Given the description of an element on the screen output the (x, y) to click on. 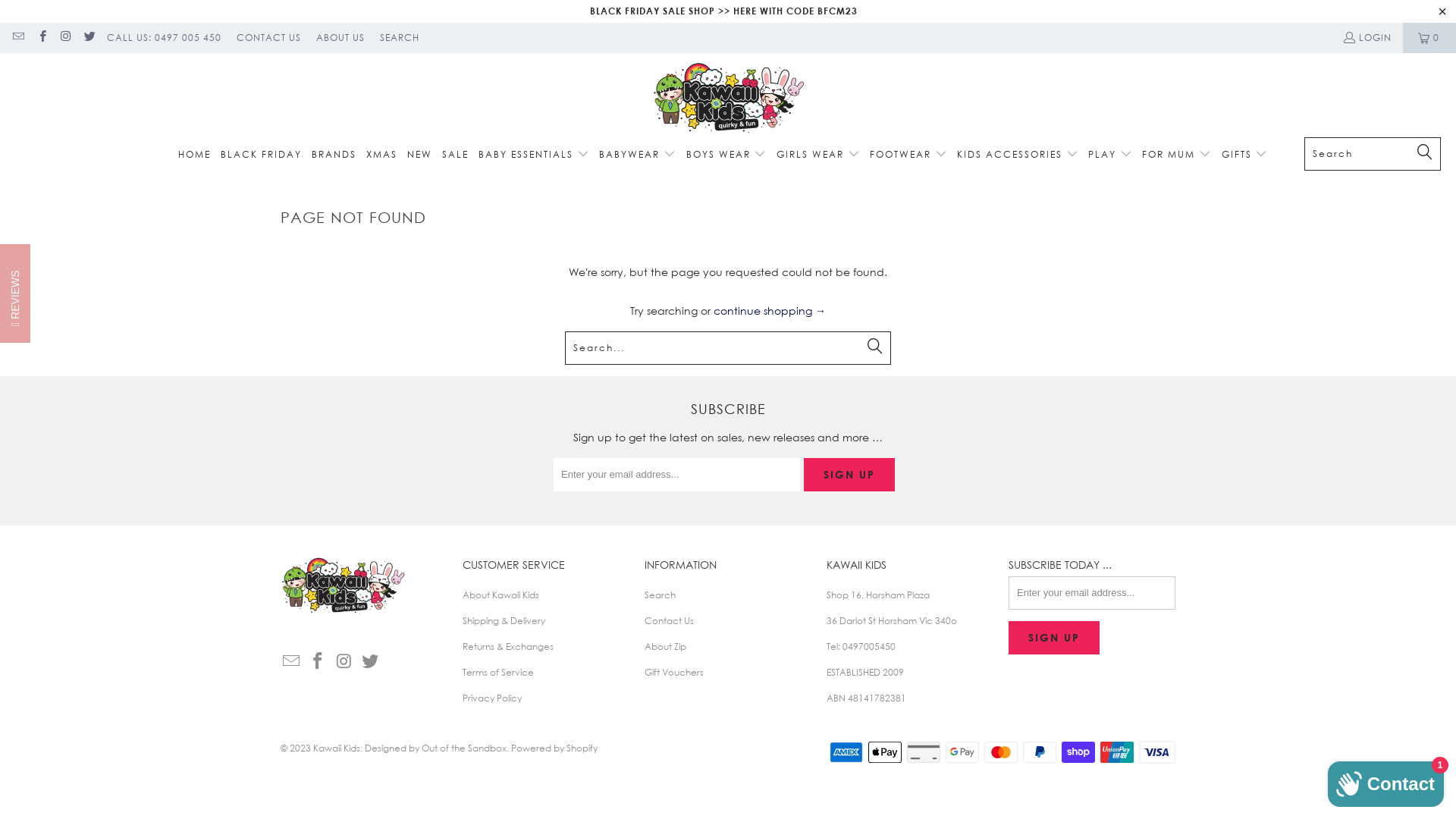
About Zip Element type: text (665, 646)
Designed by Out of the Sandbox Element type: text (435, 747)
CONTACT US Element type: text (268, 37)
Kawaii Kids on Facebook Element type: hover (40, 37)
About Kawaii Kids Element type: text (500, 594)
Email Kawaii Kids Element type: hover (17, 37)
Email Kawaii Kids Element type: hover (291, 661)
Contact Us Element type: text (668, 620)
Terms of Service Element type: text (497, 671)
CALL US: 0497 005 450 Element type: text (163, 37)
Kawaii Kids on Instagram Element type: hover (343, 661)
HOME Element type: text (194, 154)
Kawaii Kids Element type: text (336, 747)
Kawaii Kids on Twitter Element type: hover (88, 37)
Search Element type: text (659, 594)
Sign Up Element type: text (1053, 638)
SALE Element type: text (455, 154)
BLACK FRIDAY Element type: text (260, 154)
Gift Vouchers Element type: text (673, 671)
Shipping & Delivery Element type: text (503, 620)
Privacy Policy Element type: text (491, 697)
BLACK FRIDAY SALE SHOP >> HERE Element type: text (672, 10)
Kawaii Kids on Facebook Element type: hover (318, 661)
Shopify online store chat Element type: hover (1385, 780)
LOGIN Element type: text (1366, 37)
XMAS Element type: text (381, 154)
ABOUT US Element type: text (340, 37)
SEARCH Element type: text (399, 37)
Kawaii Kids on Twitter Element type: hover (370, 661)
Kawaii Kids on Instagram Element type: hover (65, 37)
NEW Element type: text (419, 154)
Kawaii Kids Element type: hover (728, 98)
Returns & Exchanges Element type: text (507, 646)
BRANDS Element type: text (333, 154)
Sign Up Element type: text (848, 474)
Powered by Shopify Element type: text (554, 747)
